Given the description of an element on the screen output the (x, y) to click on. 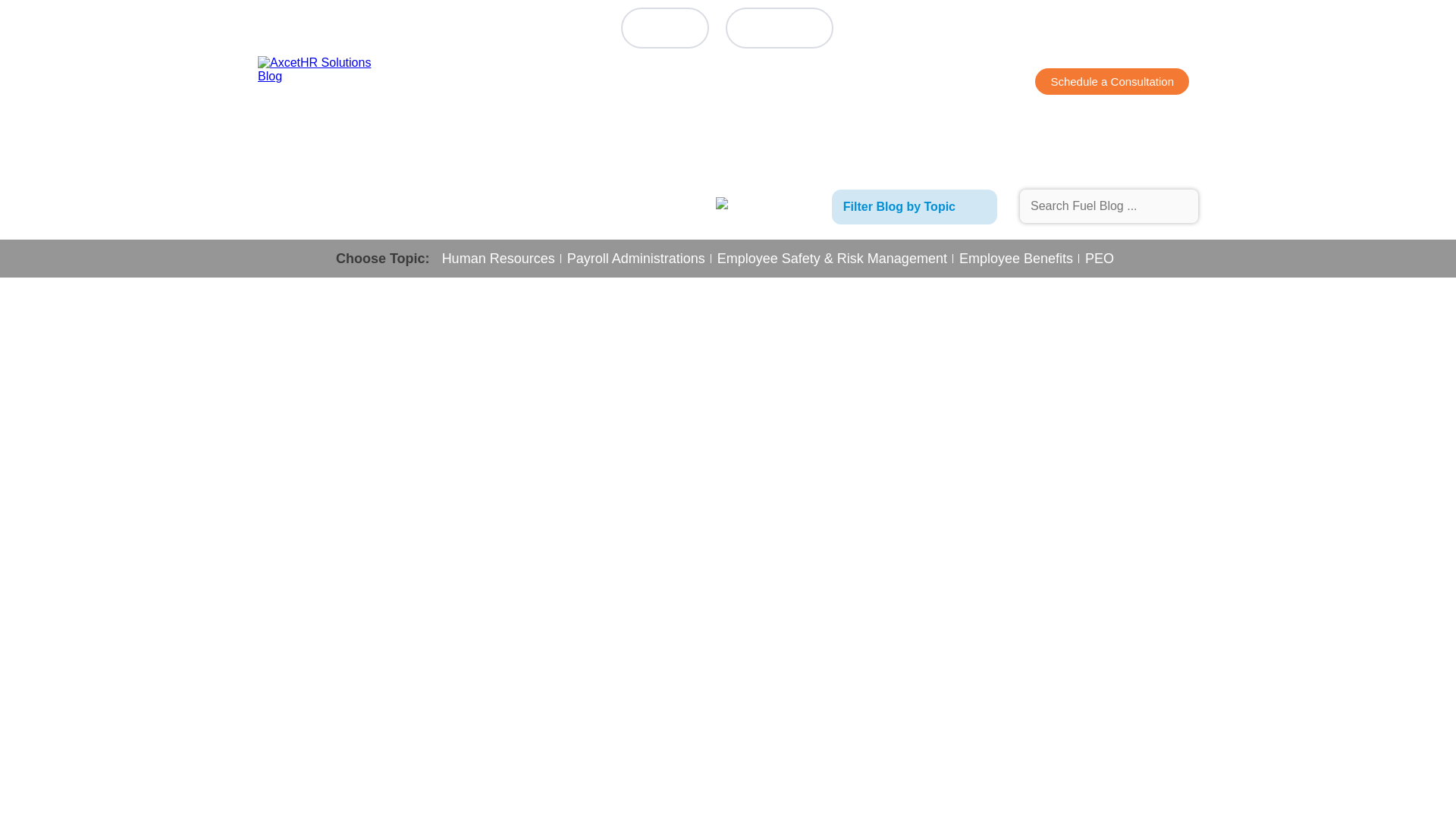
About Us (590, 83)
Client Portal (665, 27)
PEO Services (782, 83)
Schedule a Consultation (1112, 81)
Expertise (881, 83)
Why Axcet (679, 83)
Employee Login (778, 27)
